Given the description of an element on the screen output the (x, y) to click on. 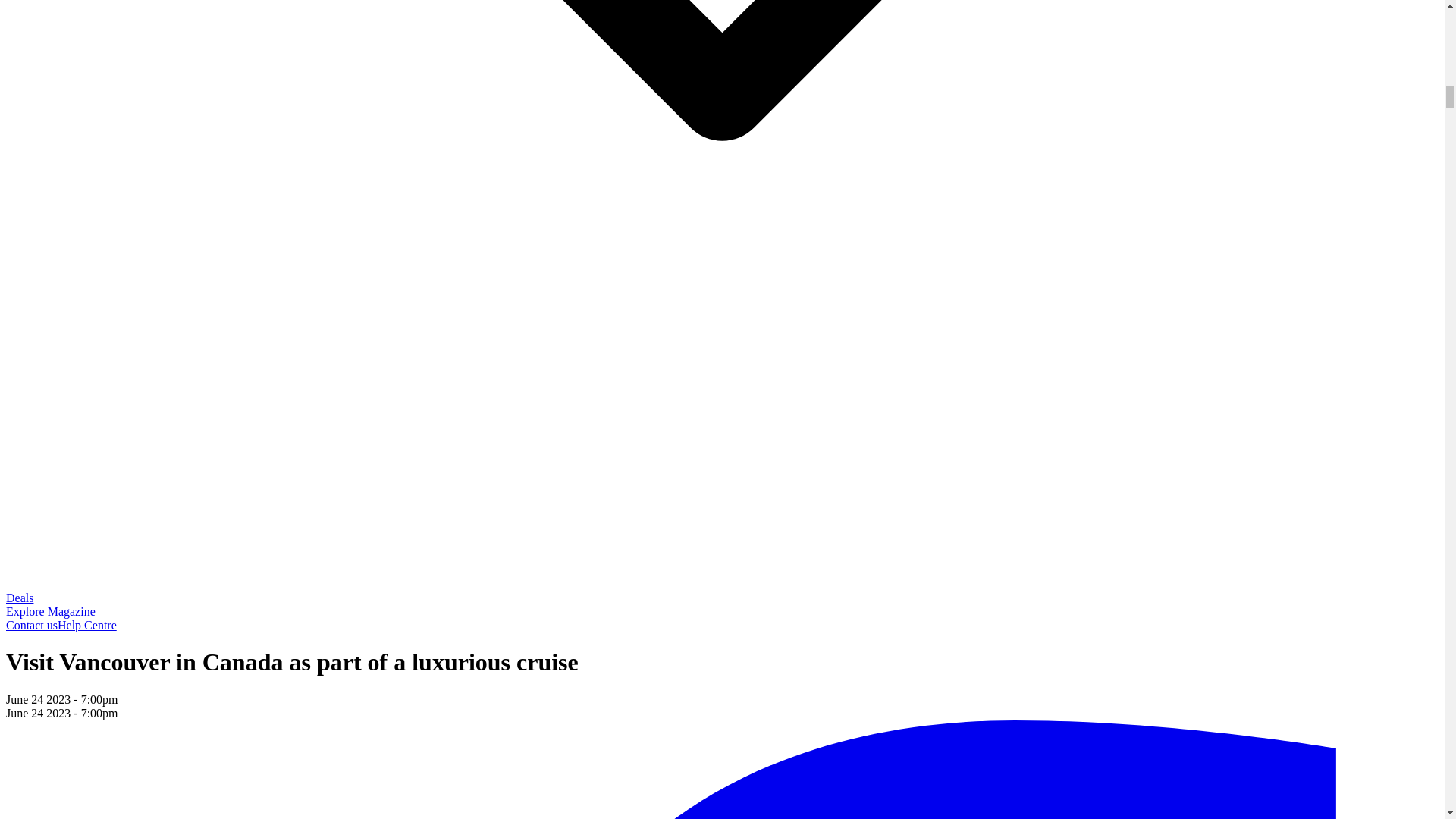
Help Centre (87, 625)
Contact us (31, 625)
Explore Magazine (50, 611)
Deals (19, 597)
